Given the description of an element on the screen output the (x, y) to click on. 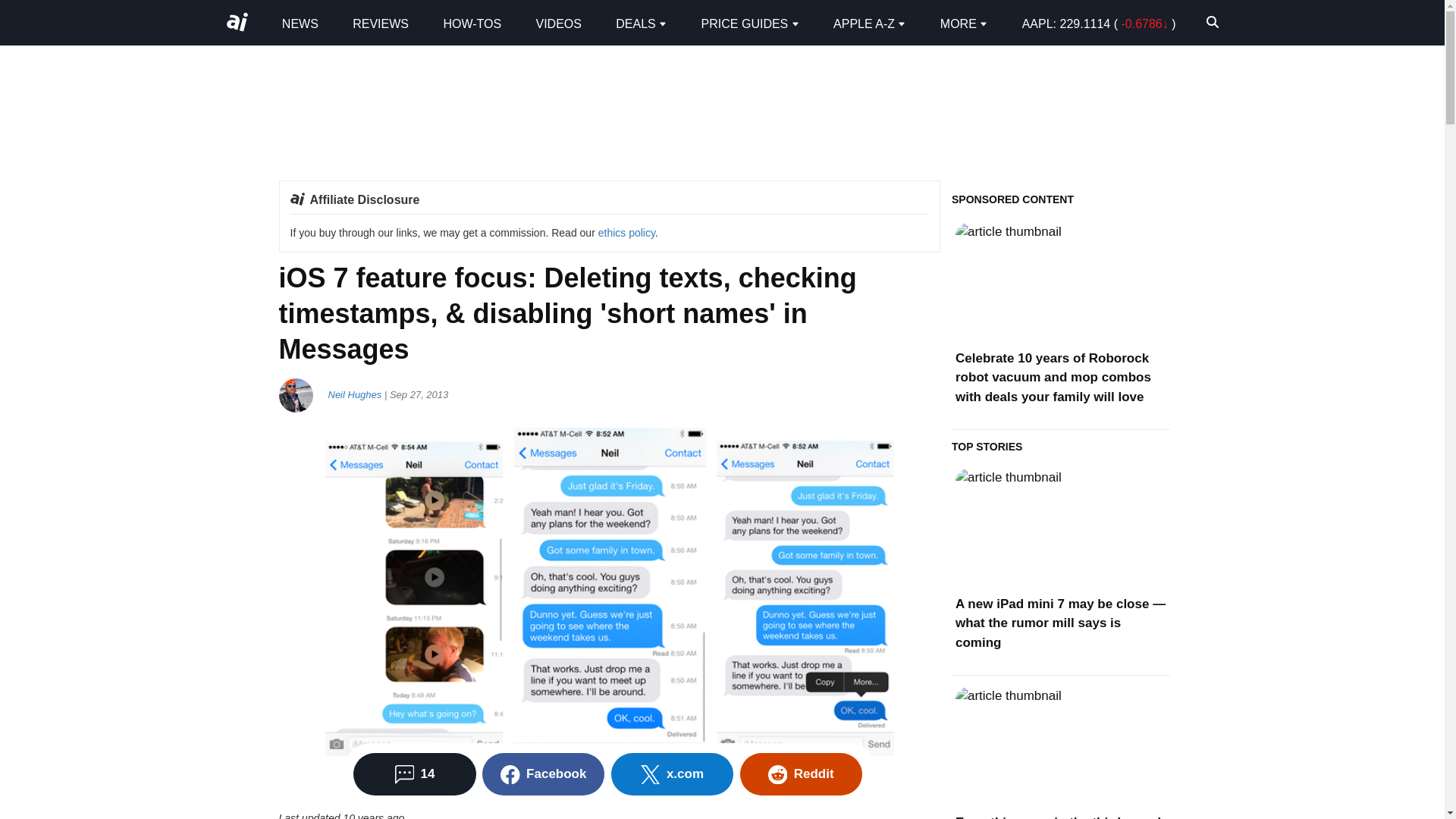
HOW-TOS (471, 23)
REVIEWS (380, 23)
Videos (557, 23)
NEWS (300, 23)
How-Tos (471, 23)
News (300, 23)
VIDEOS (557, 23)
Reviews (380, 23)
